Given the description of an element on the screen output the (x, y) to click on. 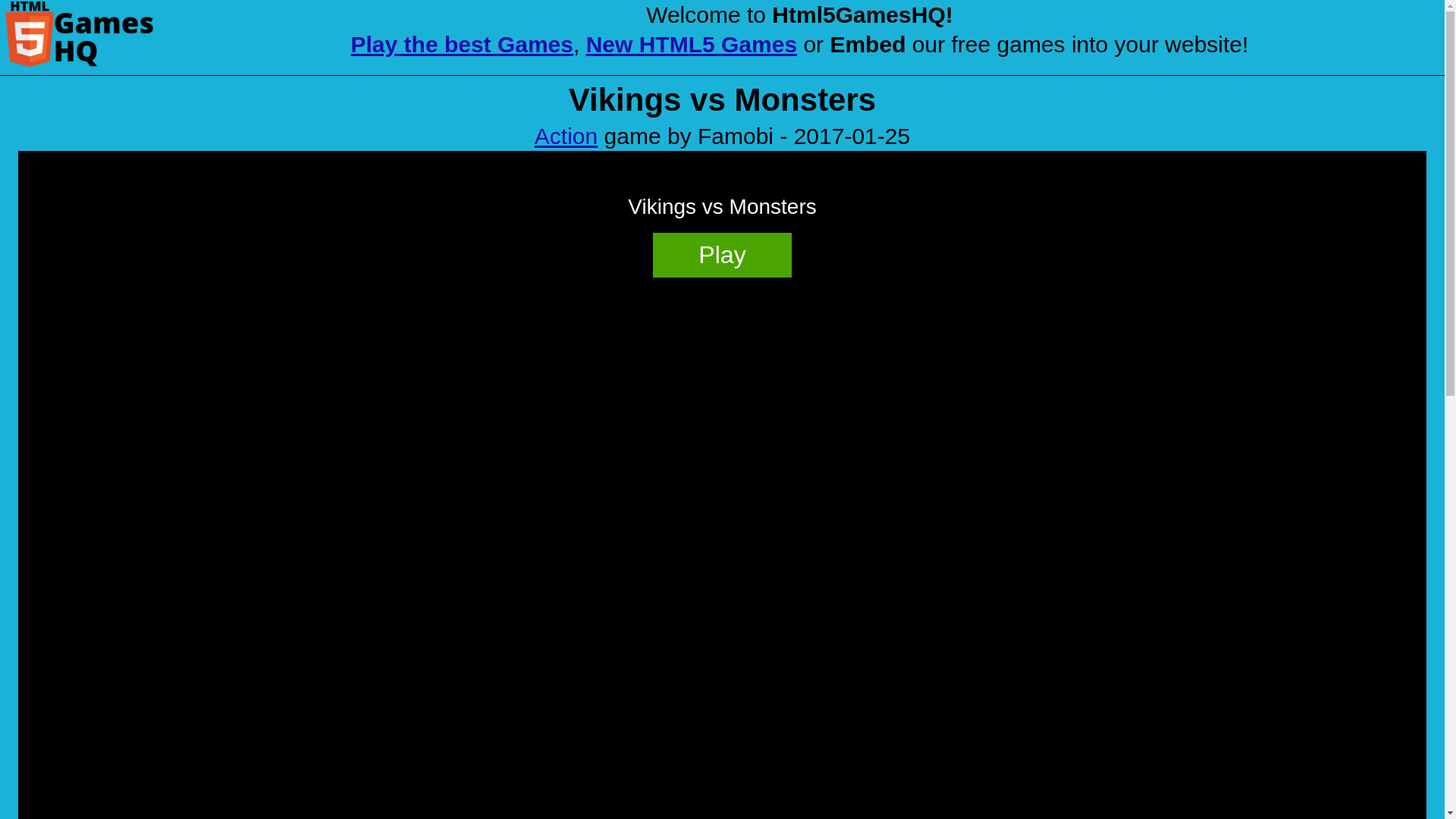
Action (565, 135)
Play the best Games (461, 43)
New HTML5 Games (691, 43)
Html5 Game Index (79, 33)
